Given the description of an element on the screen output the (x, y) to click on. 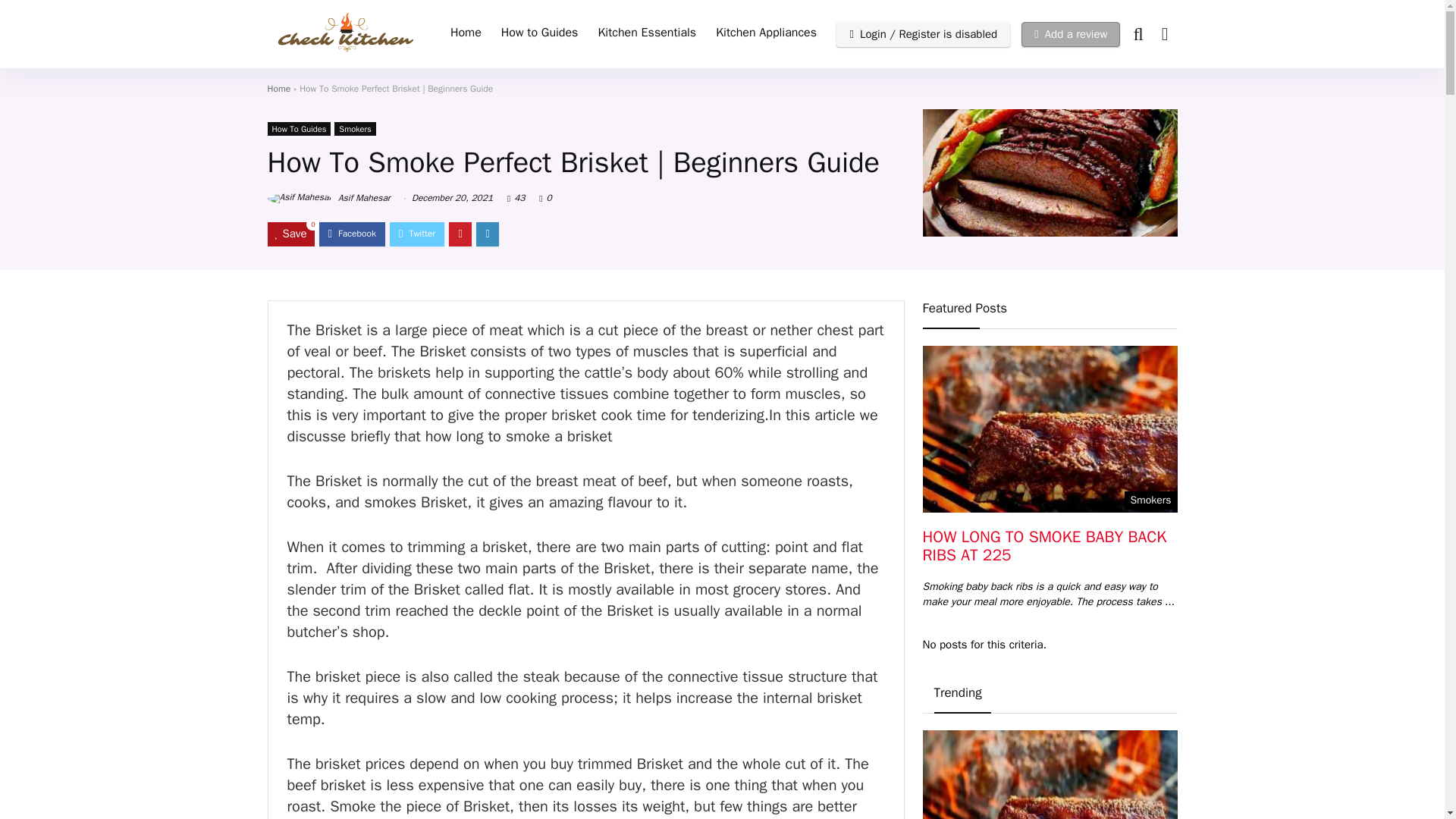
View all posts in How To Guides (298, 128)
Kitchen Essentials (647, 33)
How to Guides (540, 33)
Asif Mahesar (328, 197)
Kitchen Appliances (766, 33)
Home (466, 33)
Smokers (354, 128)
How To Guides (298, 128)
Add a review (1070, 33)
View all posts in Smokers (354, 128)
Home (277, 88)
